Given the description of an element on the screen output the (x, y) to click on. 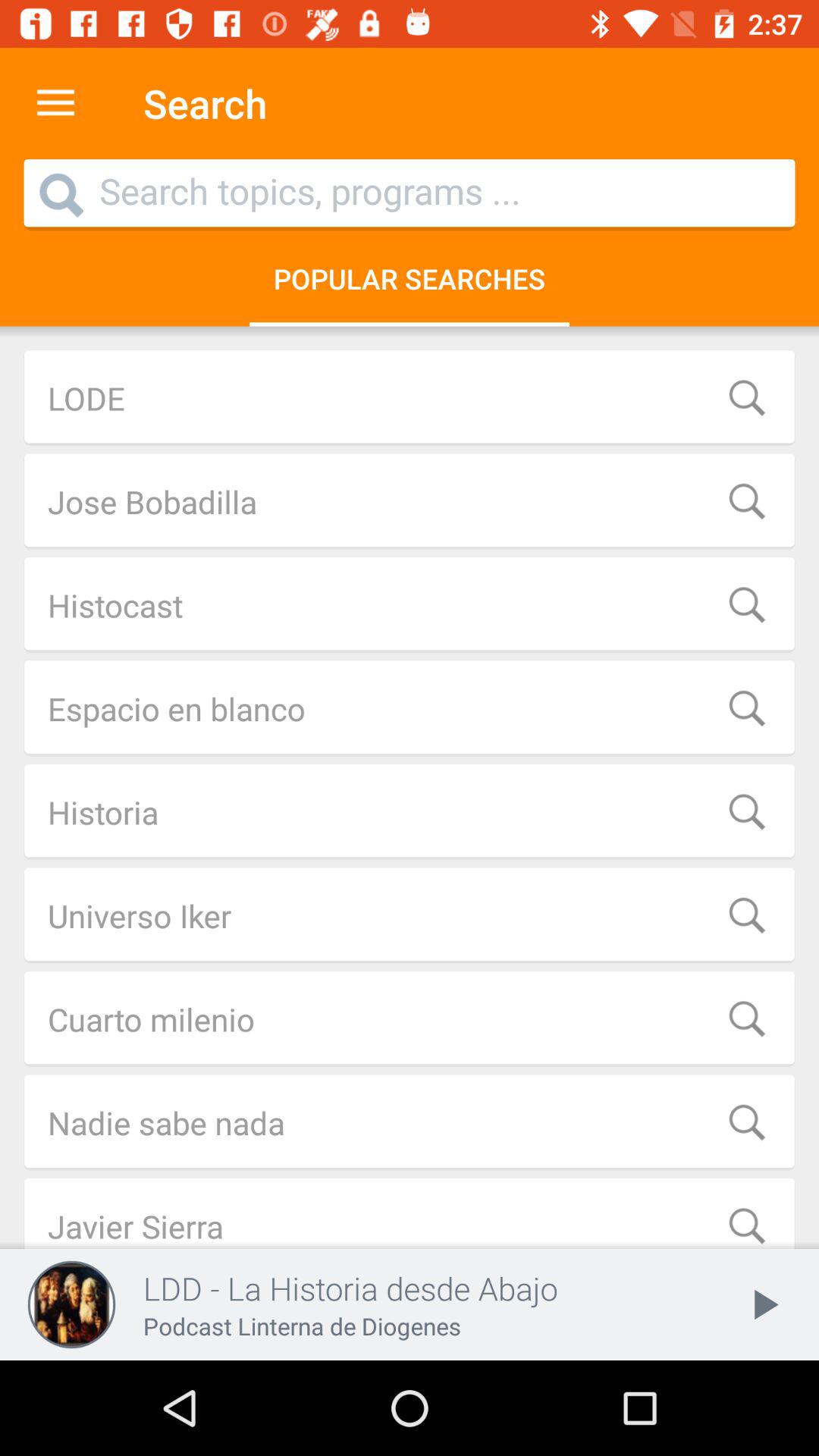
scroll until the lode (409, 397)
